Given the description of an element on the screen output the (x, y) to click on. 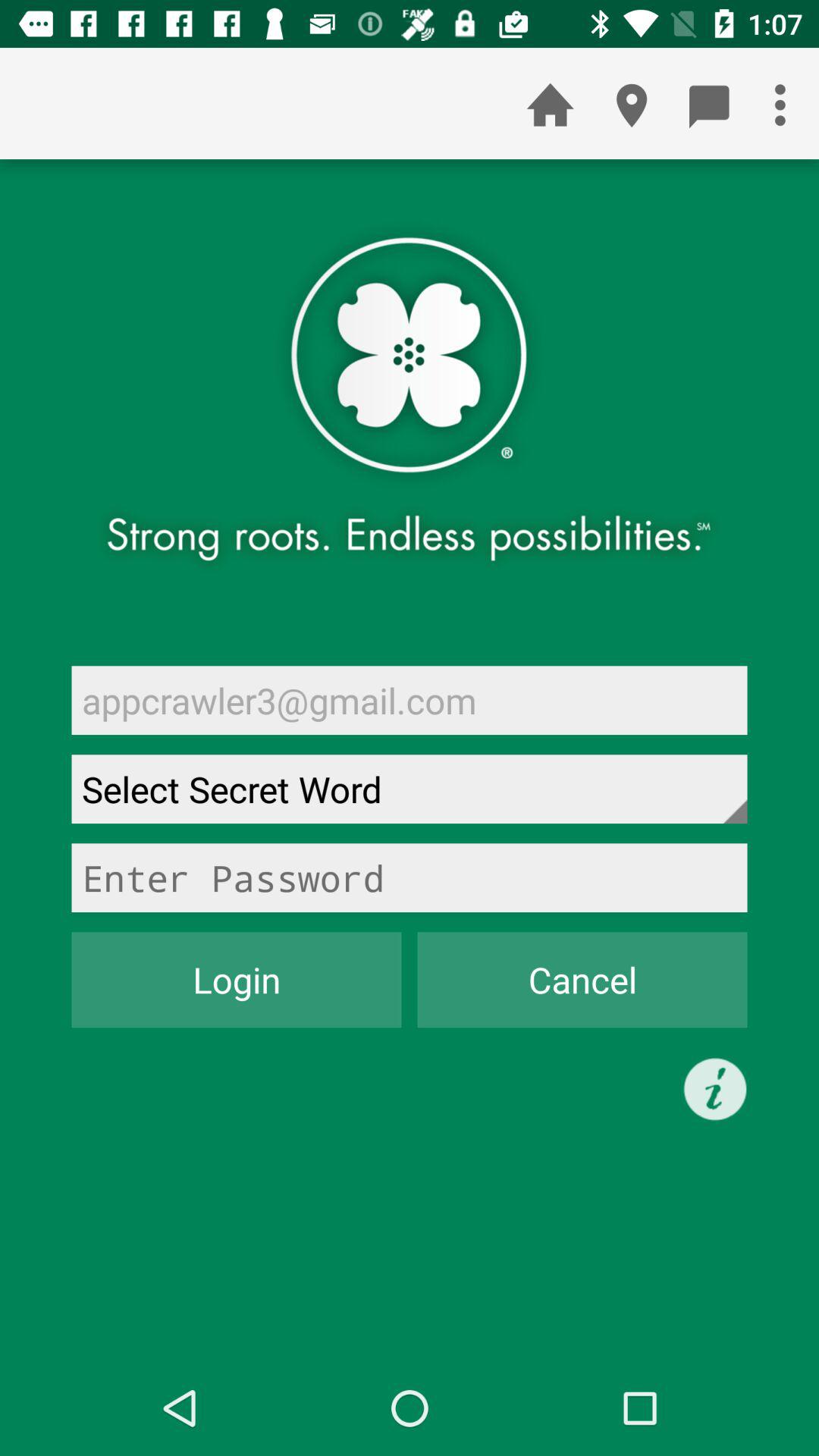
turn off icon to the right of the login (582, 979)
